Given the description of an element on the screen output the (x, y) to click on. 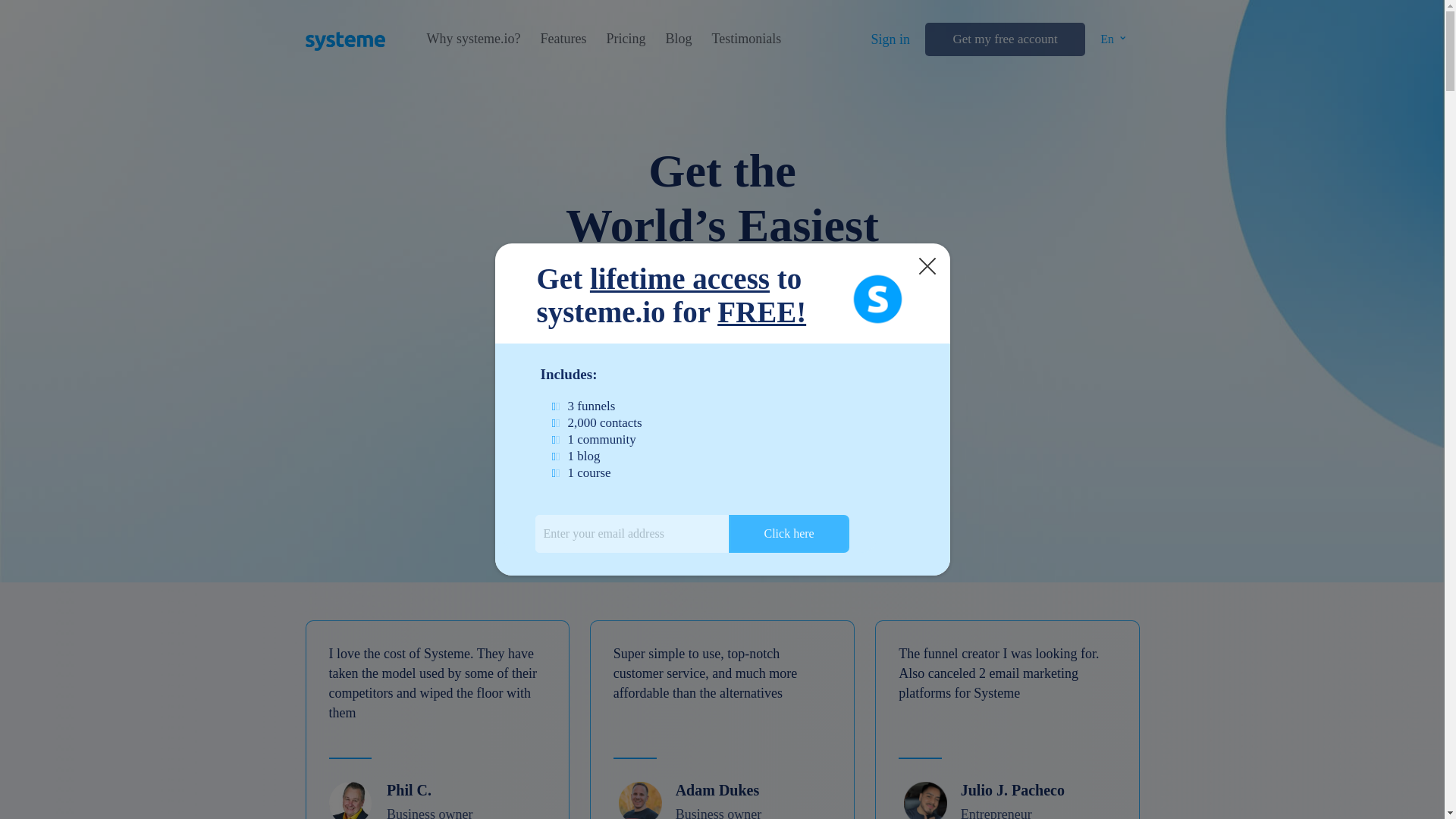
Testimonials (745, 38)
Why systeme.io? (472, 38)
Blog (678, 38)
Features (563, 38)
Pricing (625, 38)
Sign in (890, 39)
Get my free account (1004, 39)
